Given the description of an element on the screen output the (x, y) to click on. 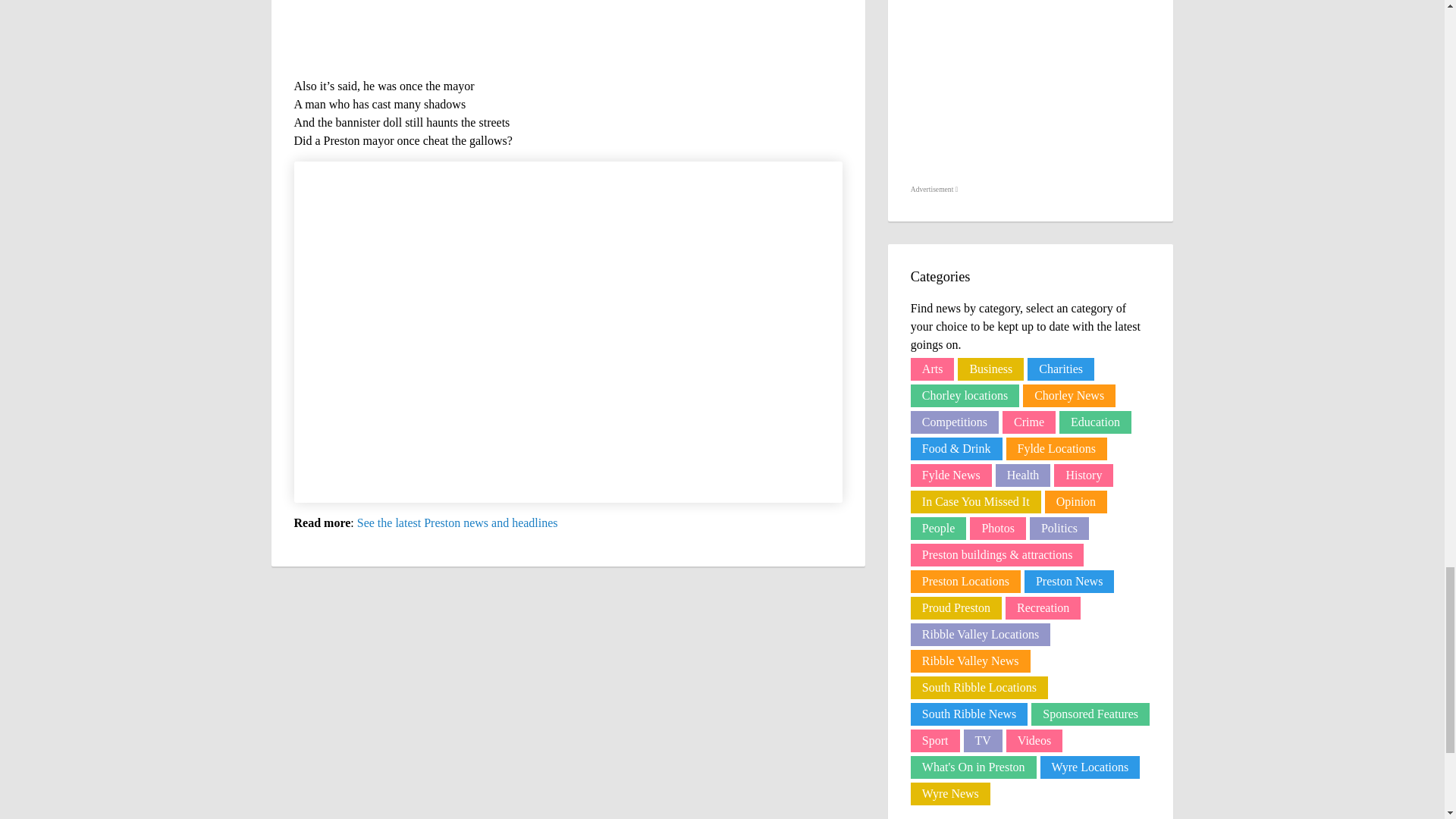
See the latest Preston news and headlines (456, 522)
